Given the description of an element on the screen output the (x, y) to click on. 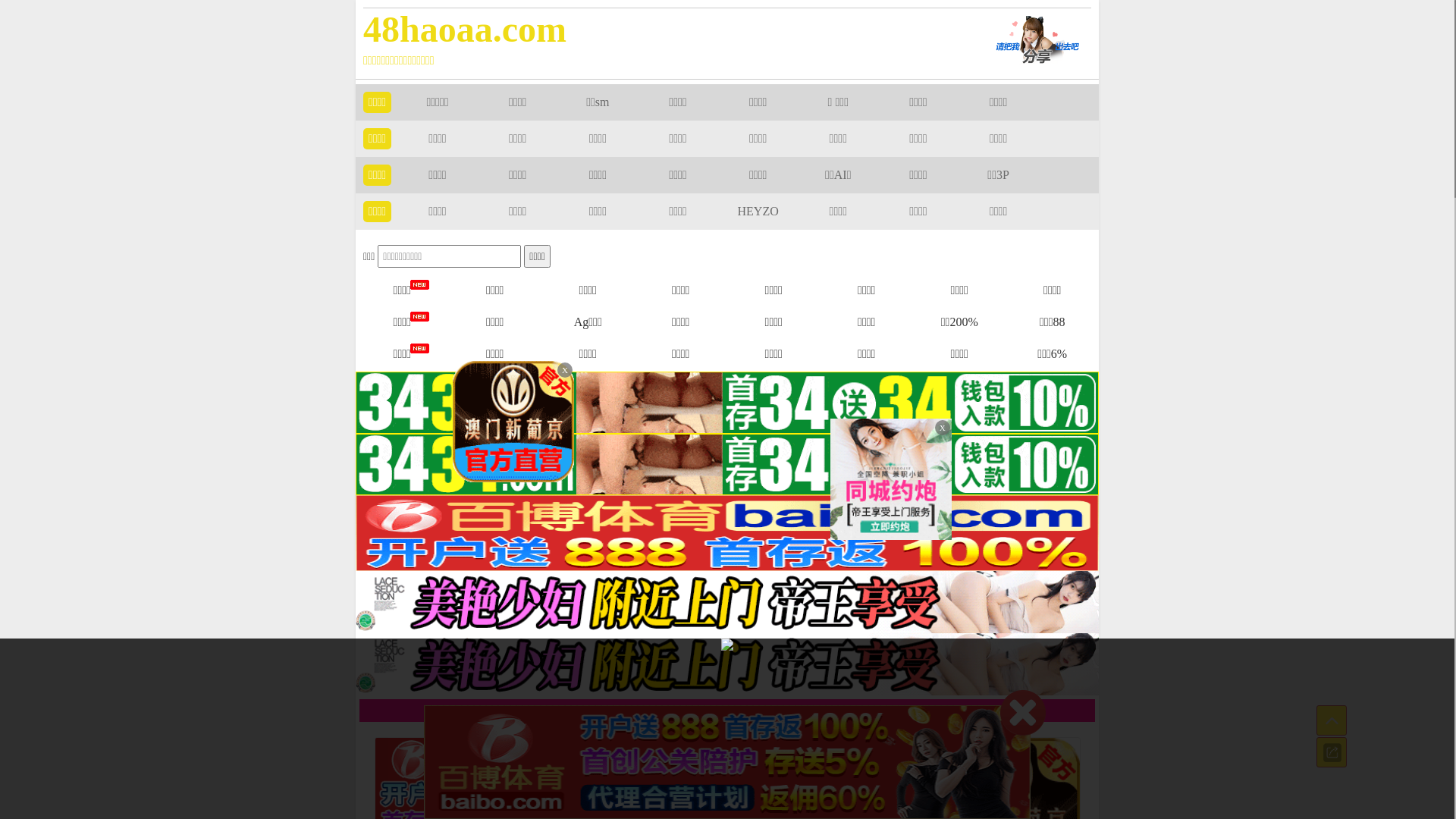
48haoaa.com Element type: text (654, 29)
HEYZO Element type: text (757, 210)
